Given the description of an element on the screen output the (x, y) to click on. 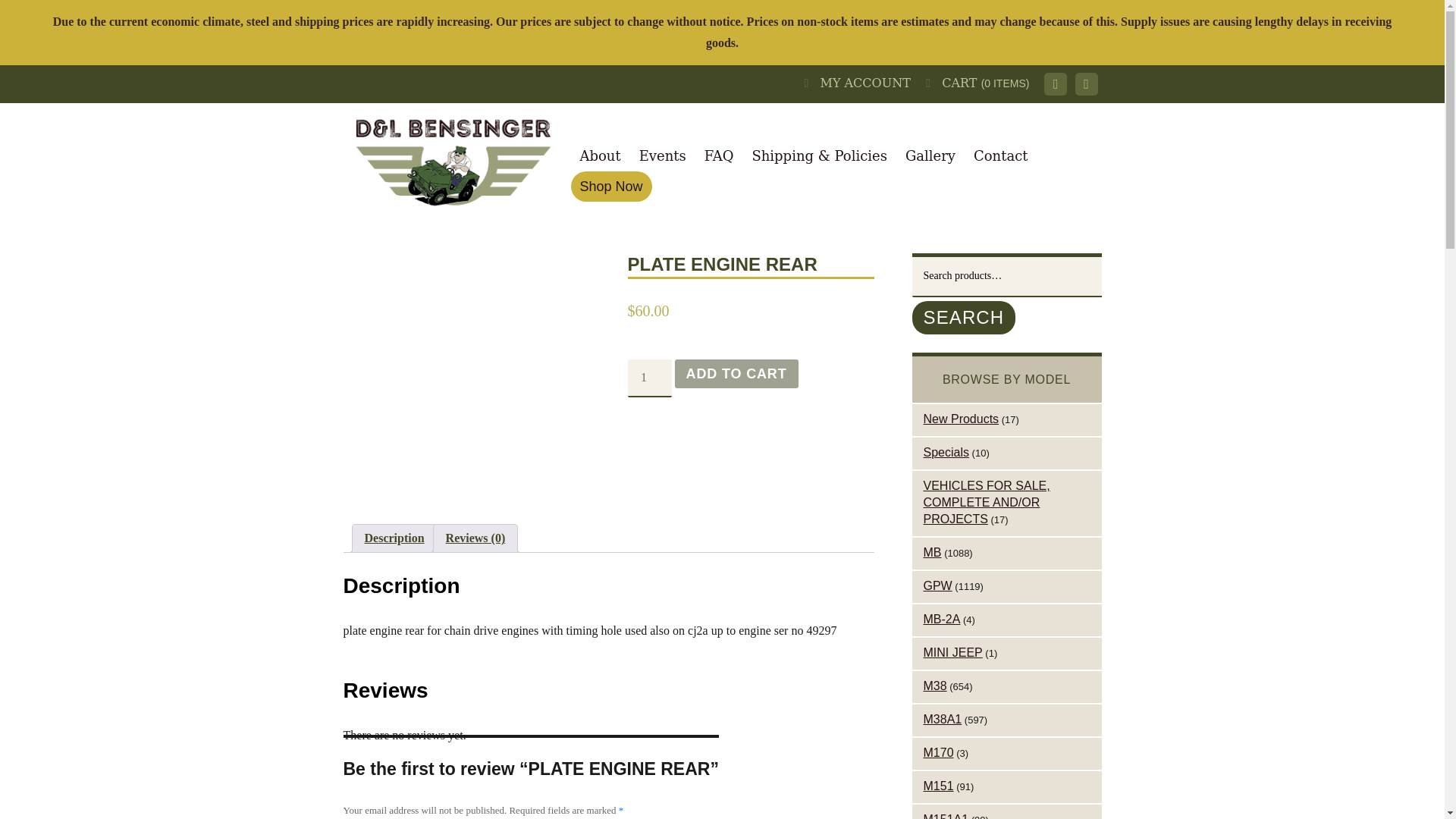
VIEW BASKET (984, 83)
Contact (999, 155)
About (599, 155)
SEARCH (962, 317)
MB (932, 552)
FAQ (718, 155)
New Products (960, 418)
Description (393, 538)
Events (662, 155)
Specials (946, 451)
